Given the description of an element on the screen output the (x, y) to click on. 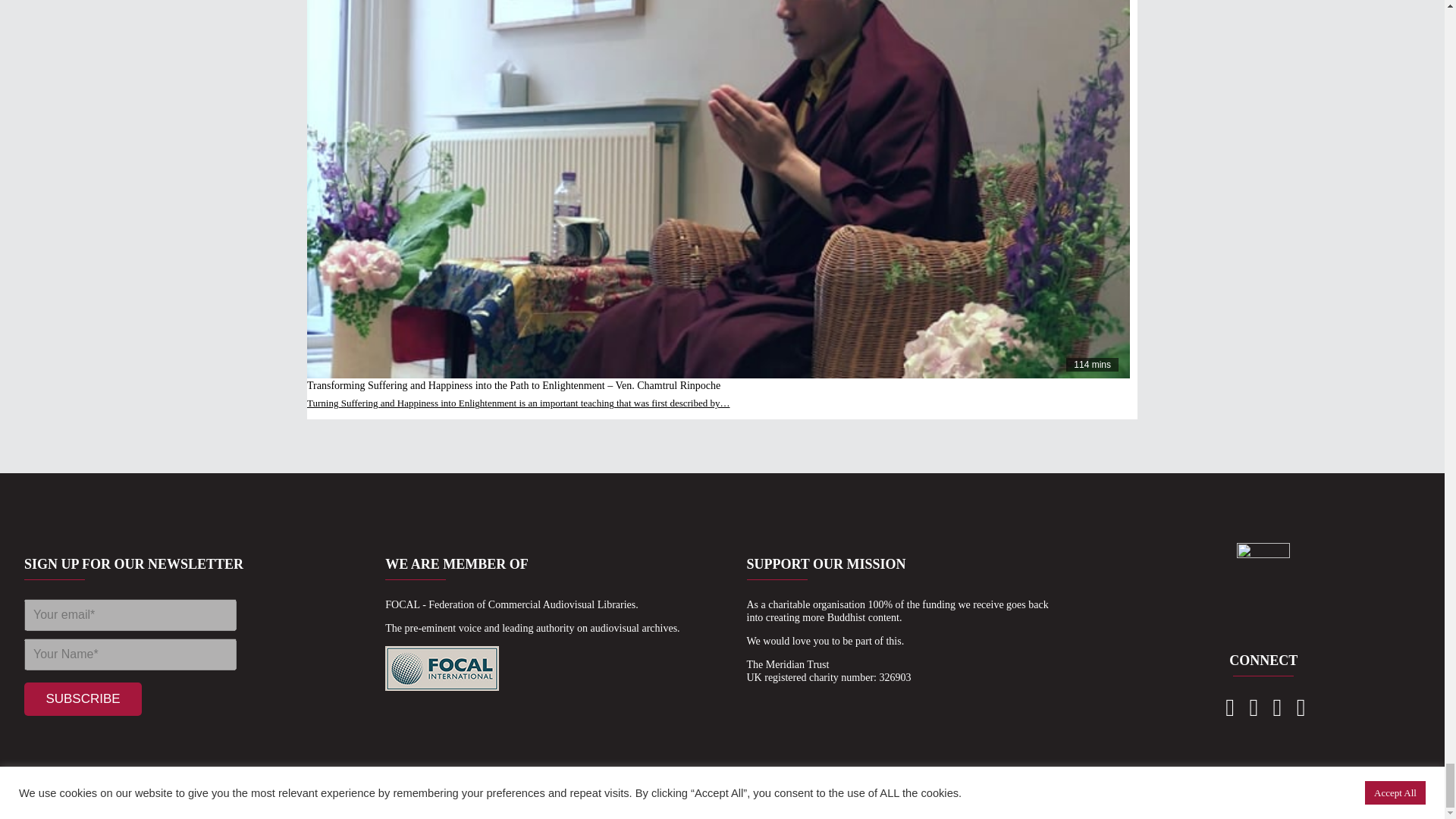
Contact Us (1228, 711)
Subscribe (82, 698)
